Given the description of an element on the screen output the (x, y) to click on. 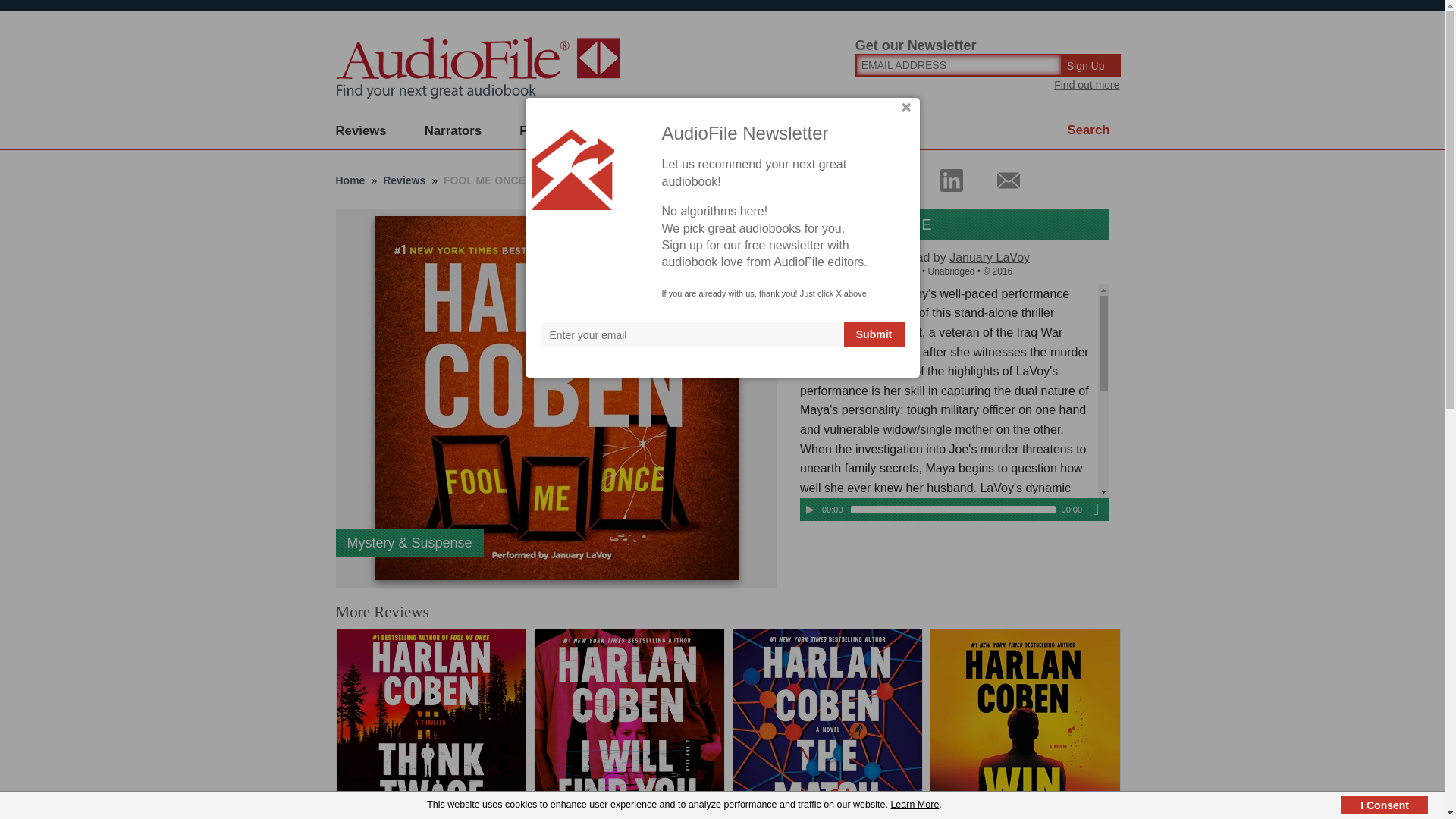
Submit (873, 334)
Sign Up (1091, 65)
AudioFileMagazine - Share by Email (999, 180)
Find out more (1086, 84)
Narrators (453, 131)
Features (545, 131)
Subscribe (640, 131)
About (727, 131)
Mute Toggle (1095, 509)
Search (1089, 130)
Articles (808, 131)
Reviews (360, 131)
